Given the description of an element on the screen output the (x, y) to click on. 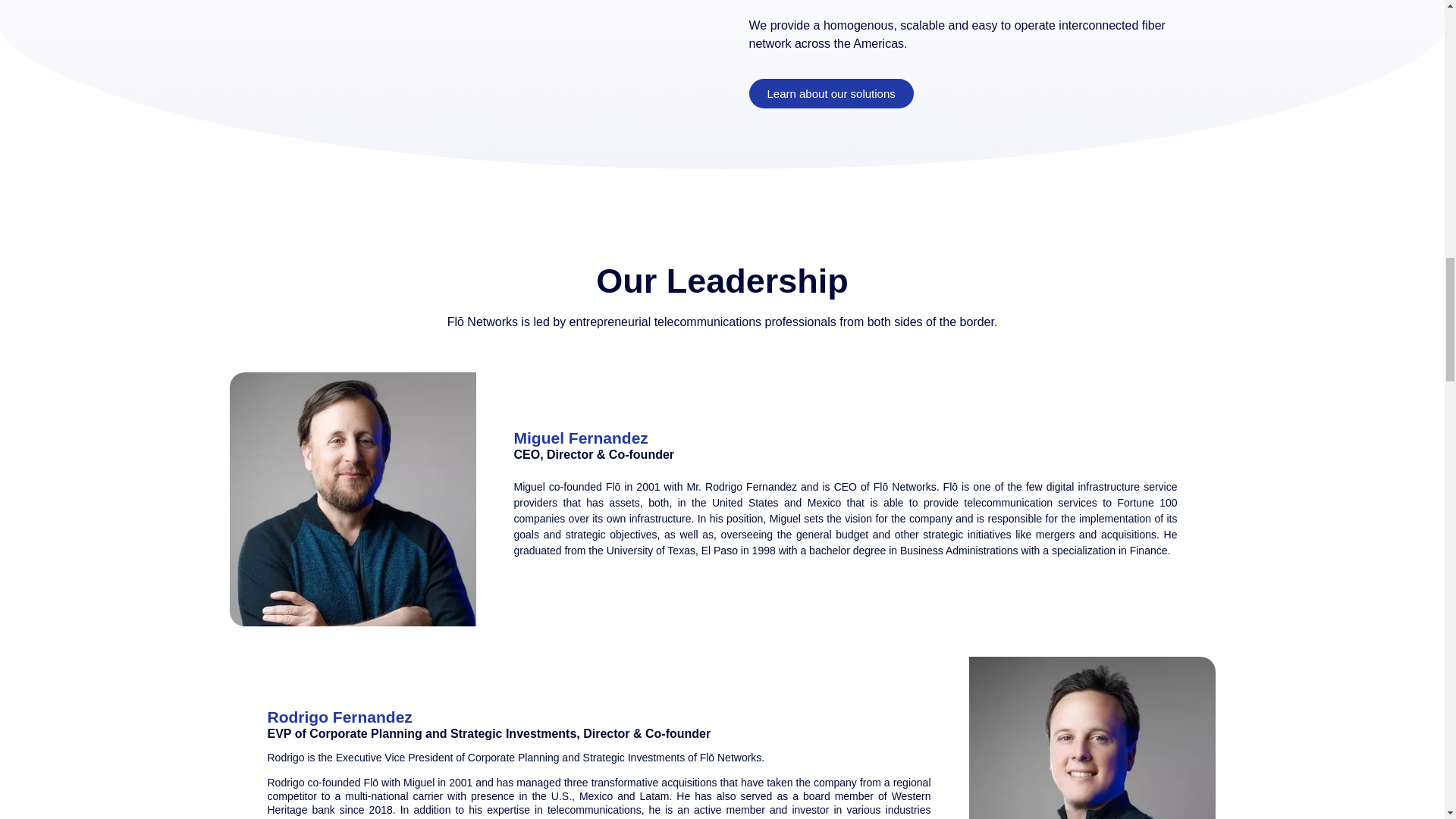
Learn about our solutions (831, 93)
